Given the description of an element on the screen output the (x, y) to click on. 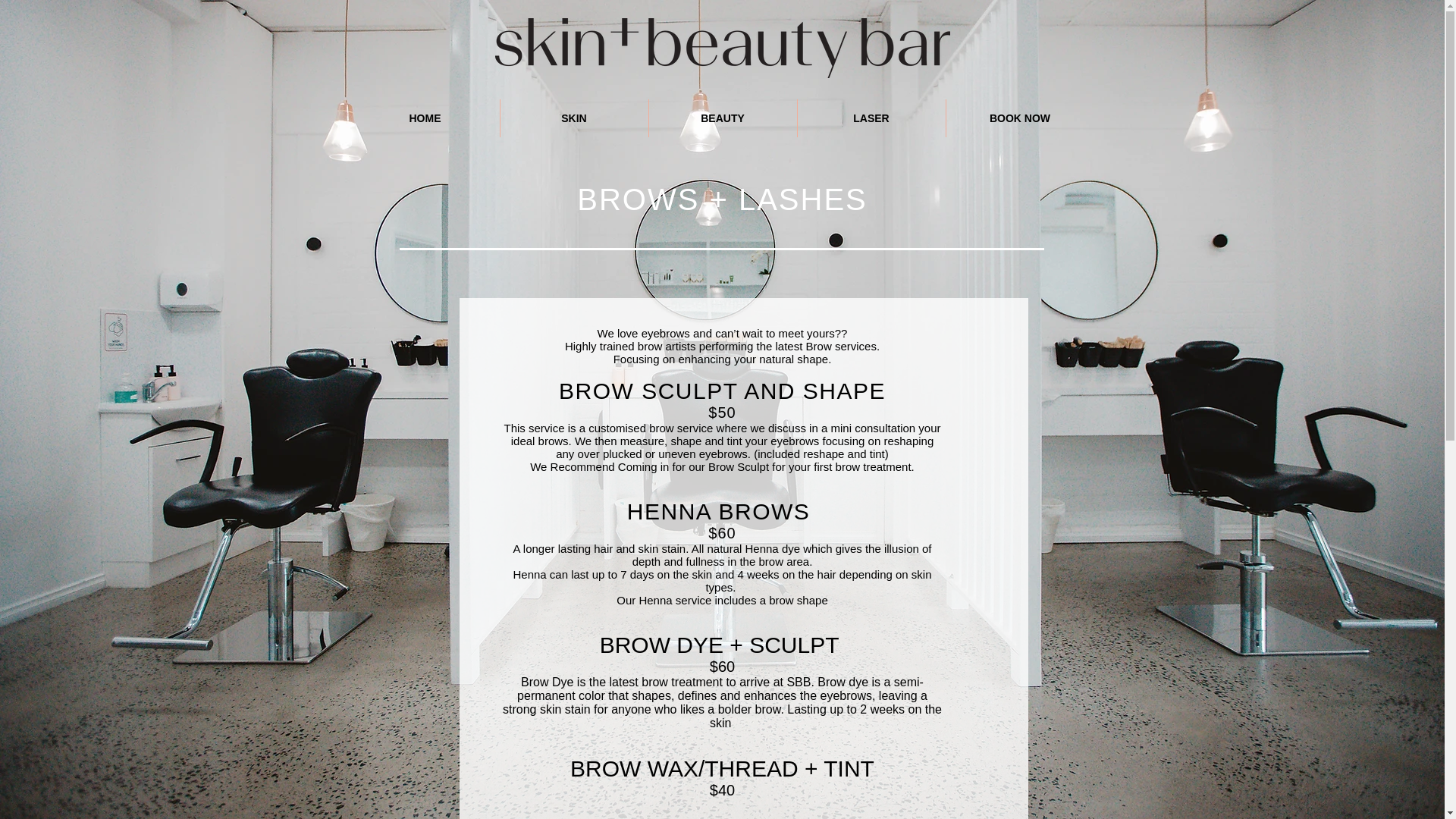
HOME (424, 118)
BOOK NOW (1020, 118)
